Given the description of an element on the screen output the (x, y) to click on. 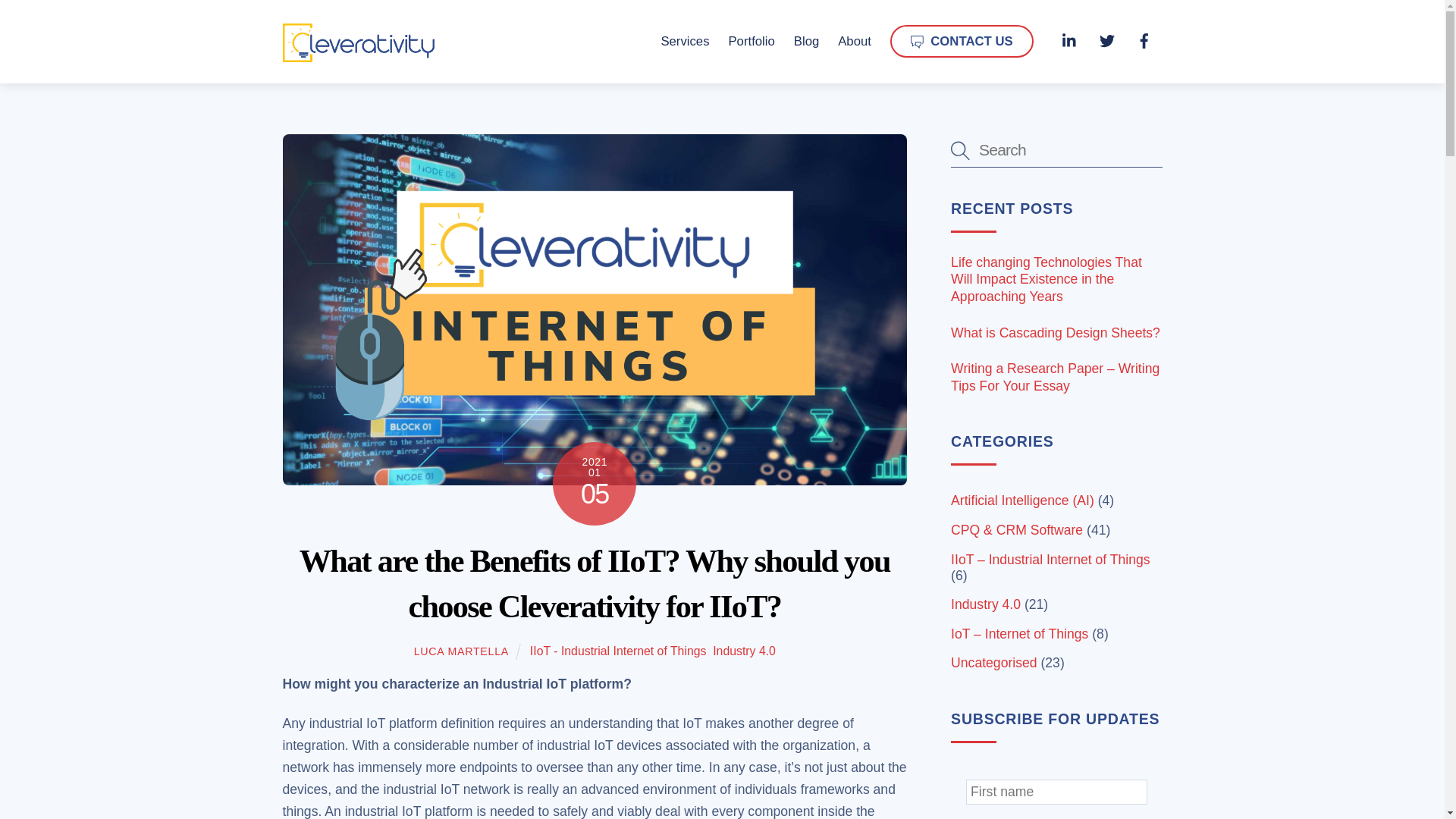
Cleverativity LOGO 2020 (357, 42)
Services (684, 40)
IIoT - Industrial Internet of Things (617, 650)
CONTACT US (961, 41)
About (854, 40)
LUCA MARTELLA (460, 651)
Search (1055, 150)
What is Cascading Design Sheets? (1055, 333)
